Given the description of an element on the screen output the (x, y) to click on. 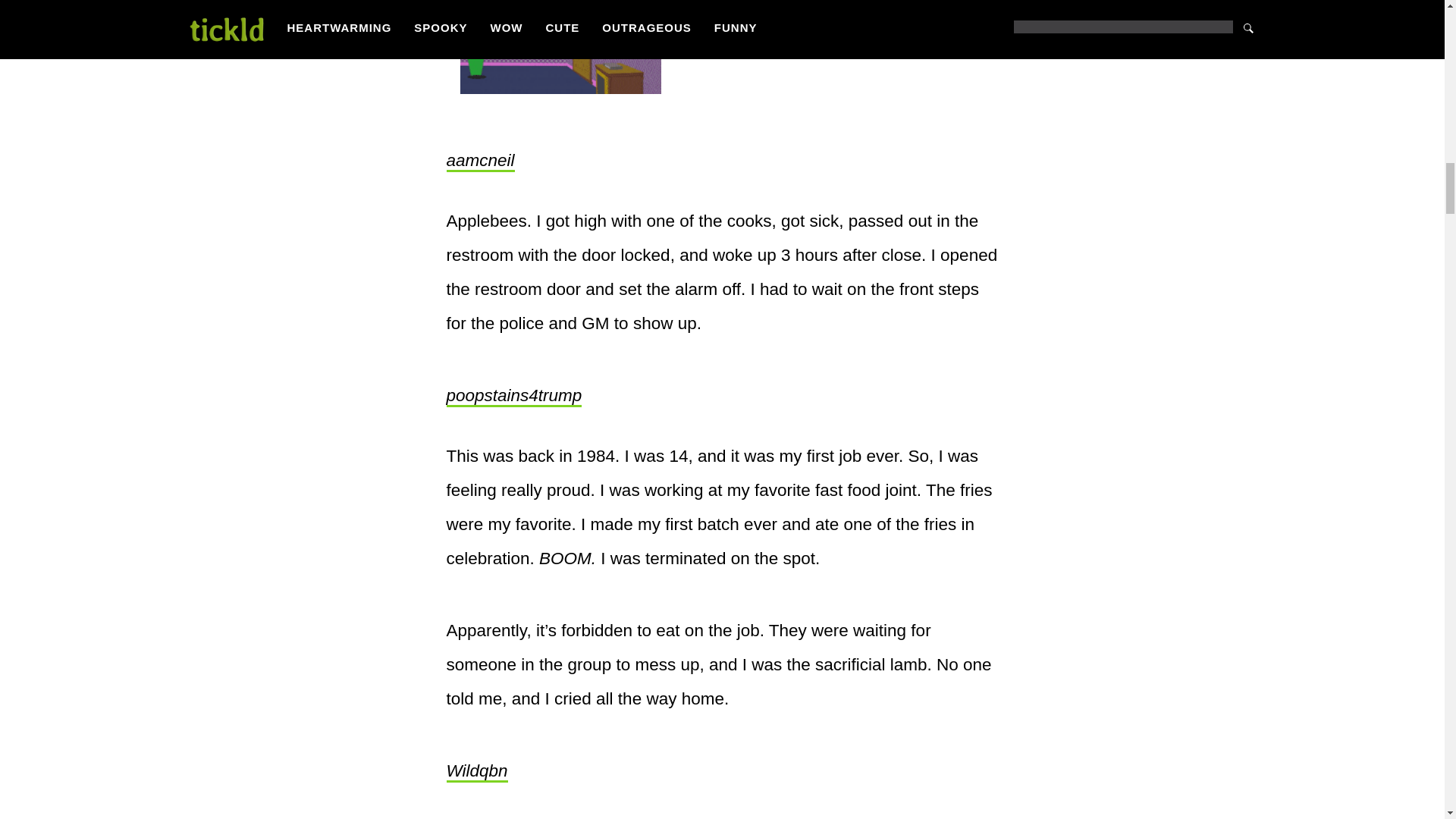
Wildqbn (475, 771)
poopstains4trump (512, 396)
aamcneil (479, 160)
